Given the description of an element on the screen output the (x, y) to click on. 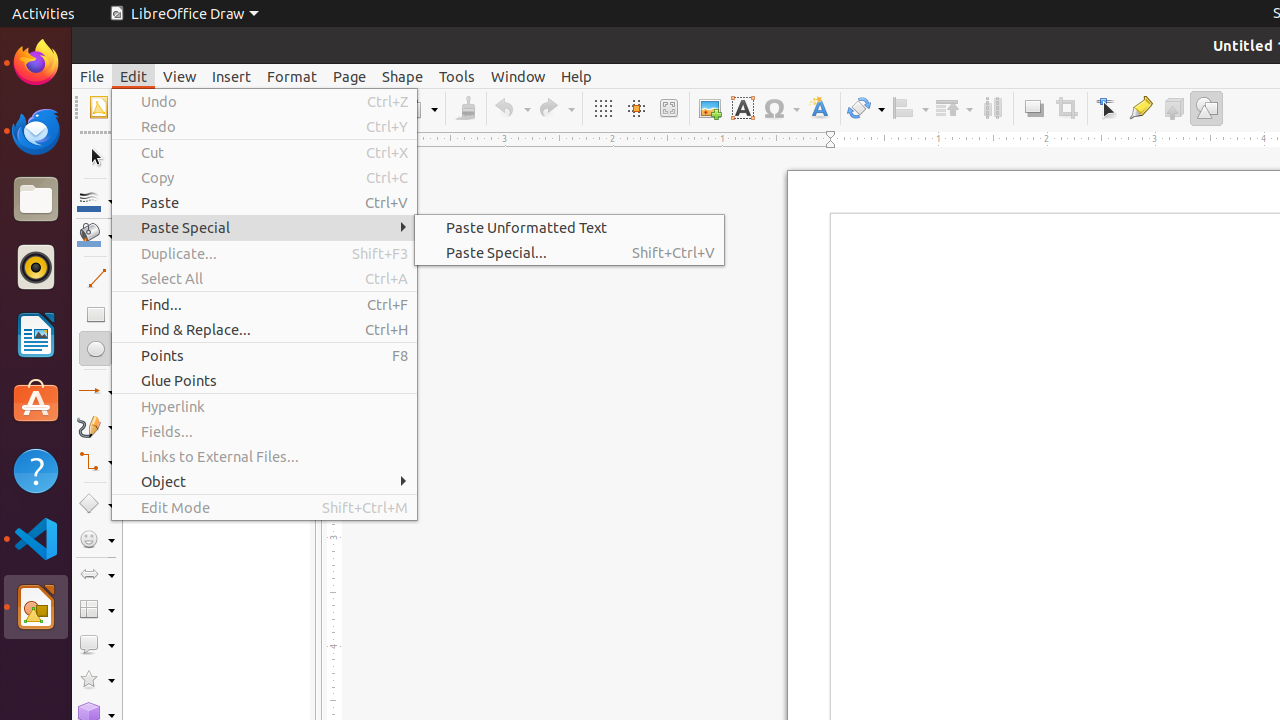
Draw Functions Element type: toggle-button (1206, 108)
Fields... Element type: menu-item (264, 431)
Ubuntu Software Element type: push-button (36, 402)
File Element type: menu (92, 76)
